Given the description of an element on the screen output the (x, y) to click on. 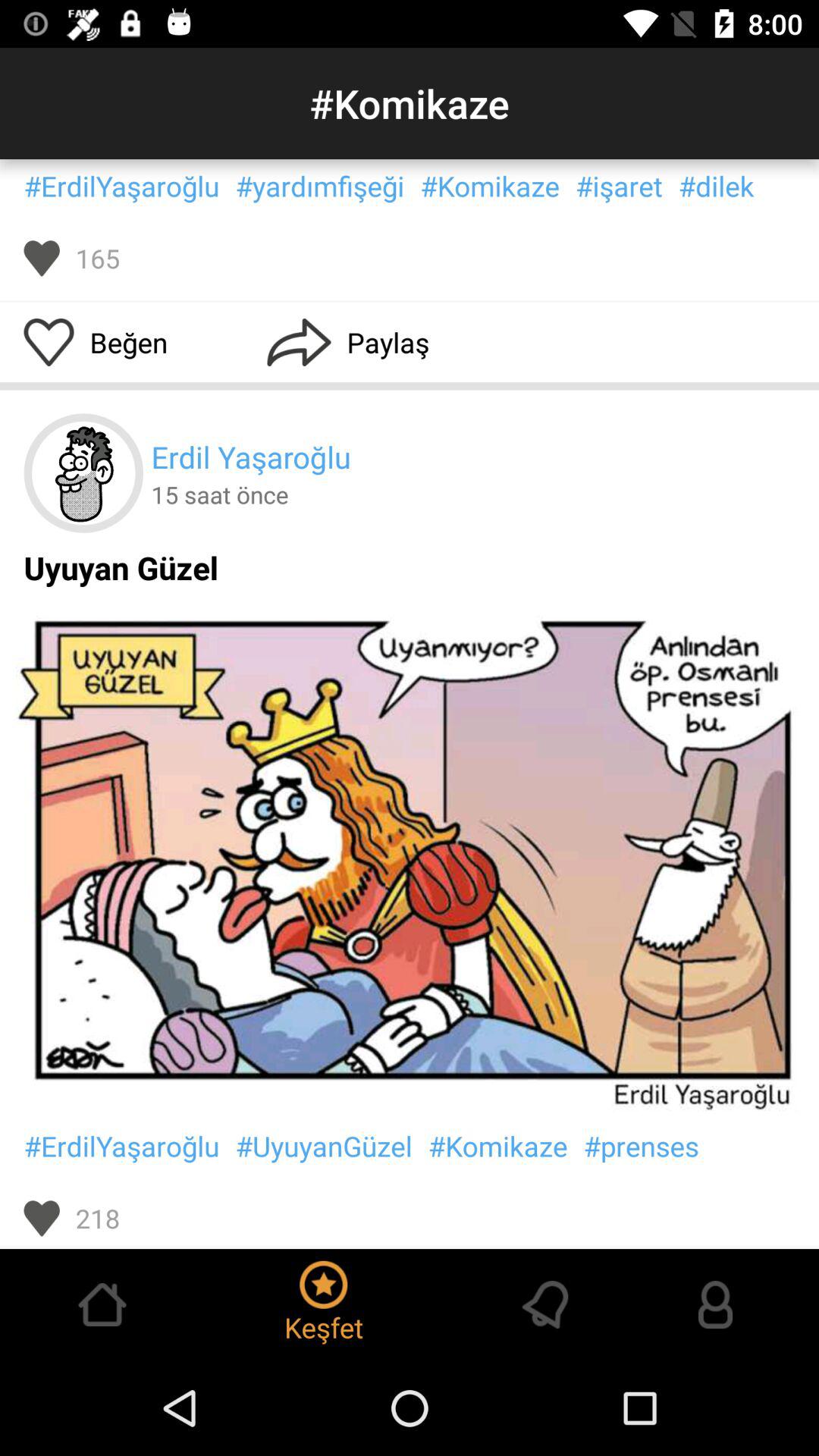
scroll until 218 (97, 1217)
